Given the description of an element on the screen output the (x, y) to click on. 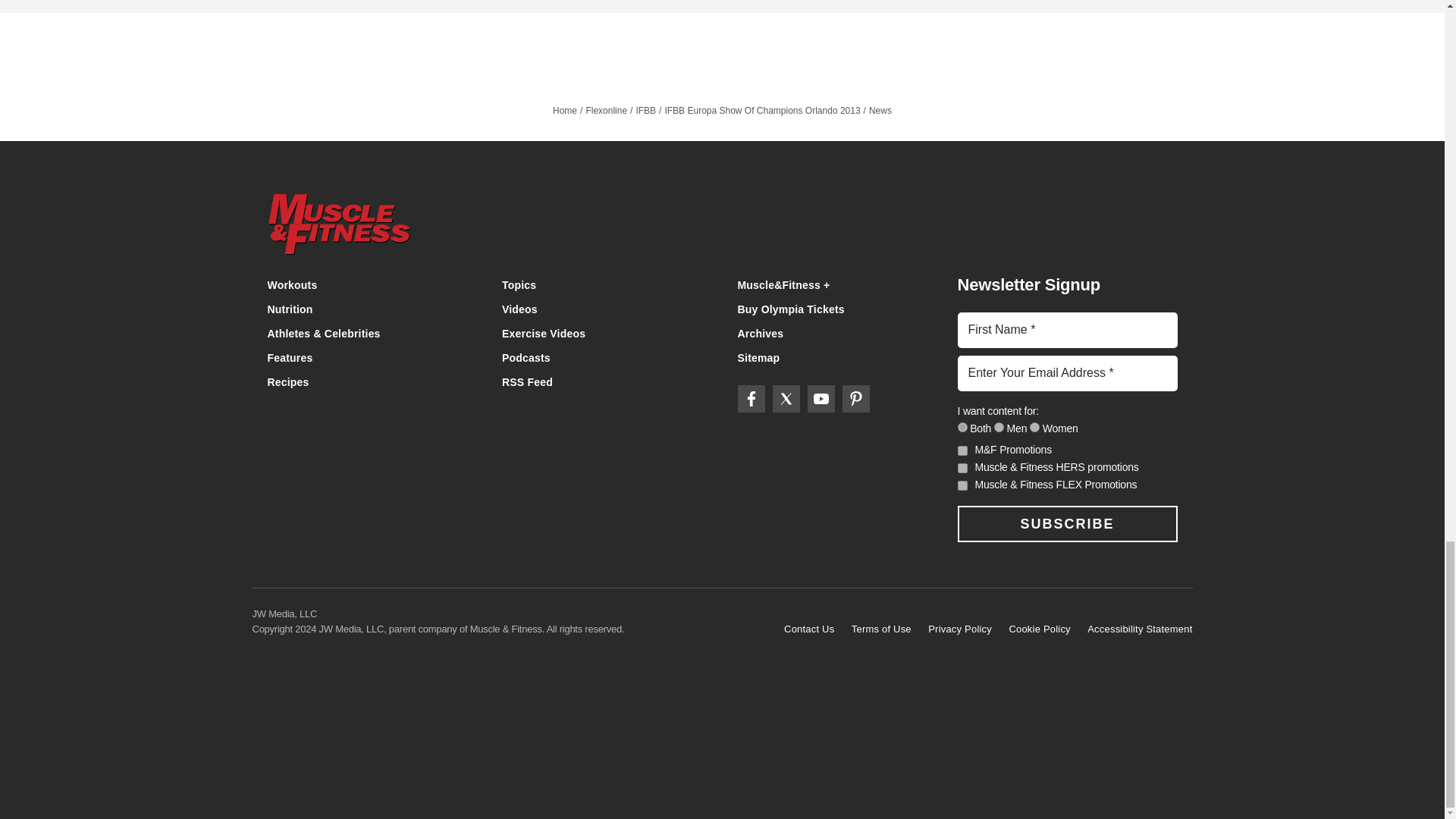
715 (1034, 427)
713 (999, 427)
Muscle and Fitness on Pinterest (855, 398)
Home (721, 225)
711 (961, 427)
Muscle and Fitness on YouTube (820, 398)
Muscle and Fitness on Facebook (750, 398)
Muscle and Fitness on Twitter (785, 398)
